Given the description of an element on the screen output the (x, y) to click on. 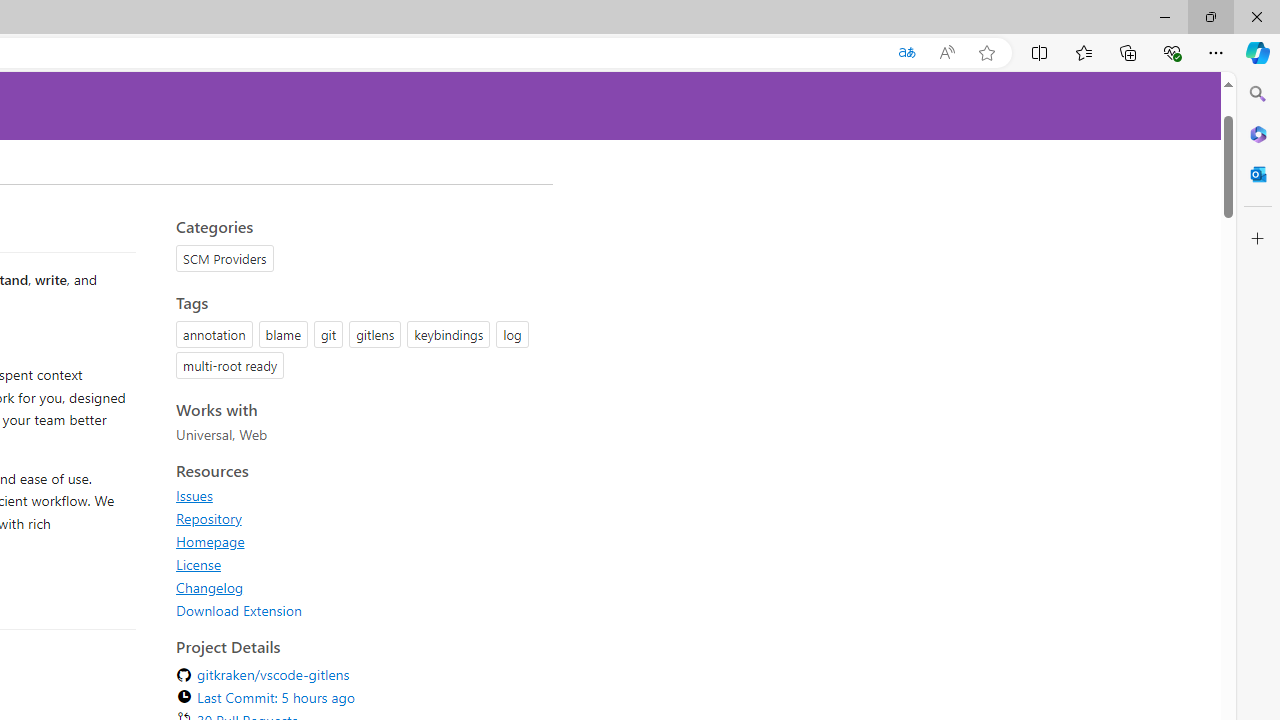
Changelog (358, 587)
Issues (358, 495)
Download Extension (239, 610)
License (198, 564)
Issues (194, 495)
